Given the description of an element on the screen output the (x, y) to click on. 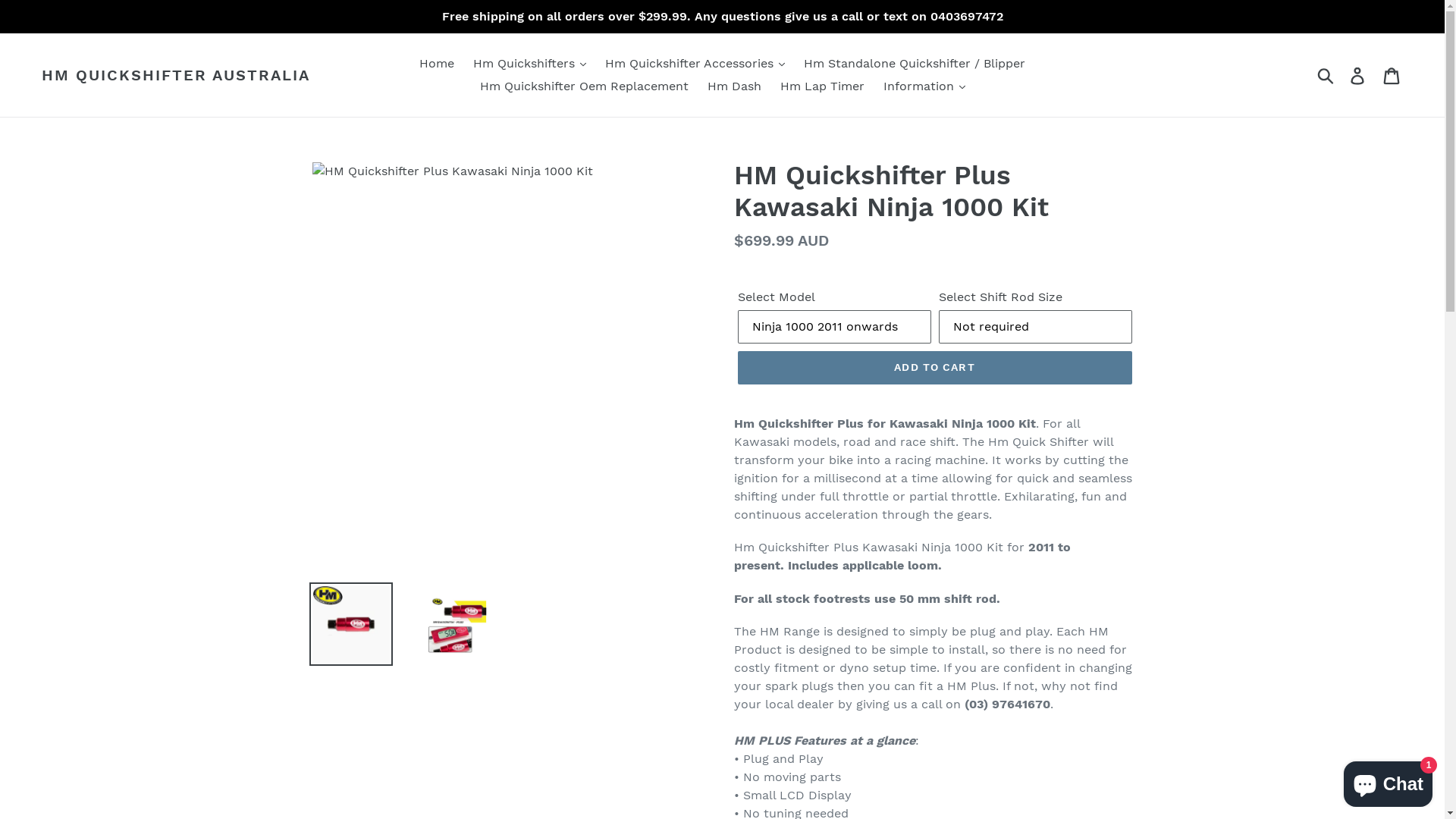
Cart Element type: text (1392, 75)
HM QUICKSHIFTER AUSTRALIA Element type: text (175, 74)
Hm Lap Timer Element type: text (821, 86)
Shopify online store chat Element type: hover (1388, 780)
Hm Standalone Quickshifter / Blipper Element type: text (914, 63)
Log in Element type: text (1358, 75)
Hm Quickshifter Oem Replacement Element type: text (583, 86)
Home Element type: text (436, 63)
ADD TO CART Element type: text (934, 367)
Submit Element type: text (1326, 74)
Hm Dash Element type: text (733, 86)
